Given the description of an element on the screen output the (x, y) to click on. 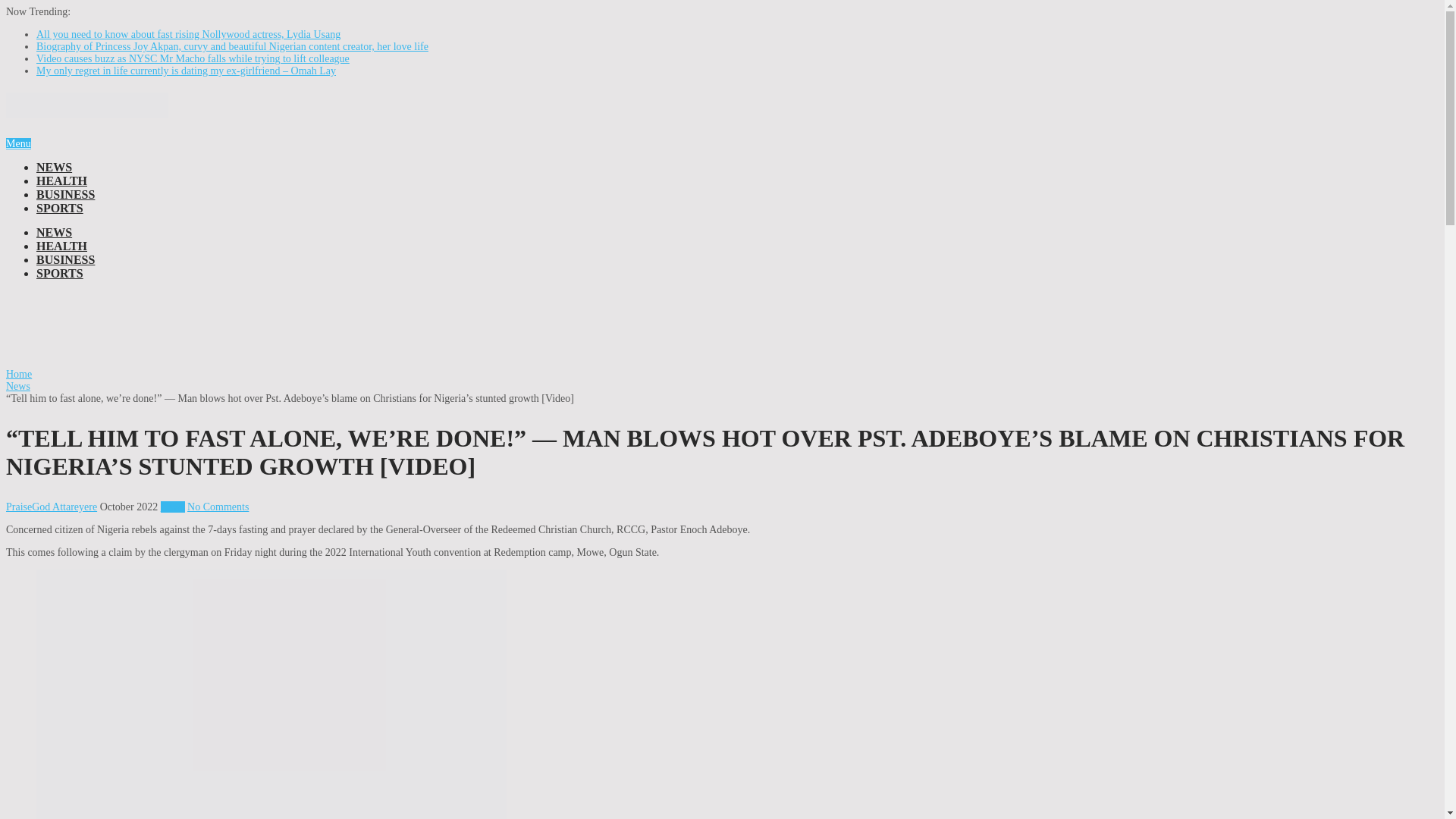
Home (18, 374)
News (172, 506)
NEWS (53, 166)
HEALTH (61, 180)
News (17, 386)
Posts by PraiseGod Attareyere (51, 506)
NEWS (53, 232)
Menu (17, 143)
View all posts in News (172, 506)
